Given the description of an element on the screen output the (x, y) to click on. 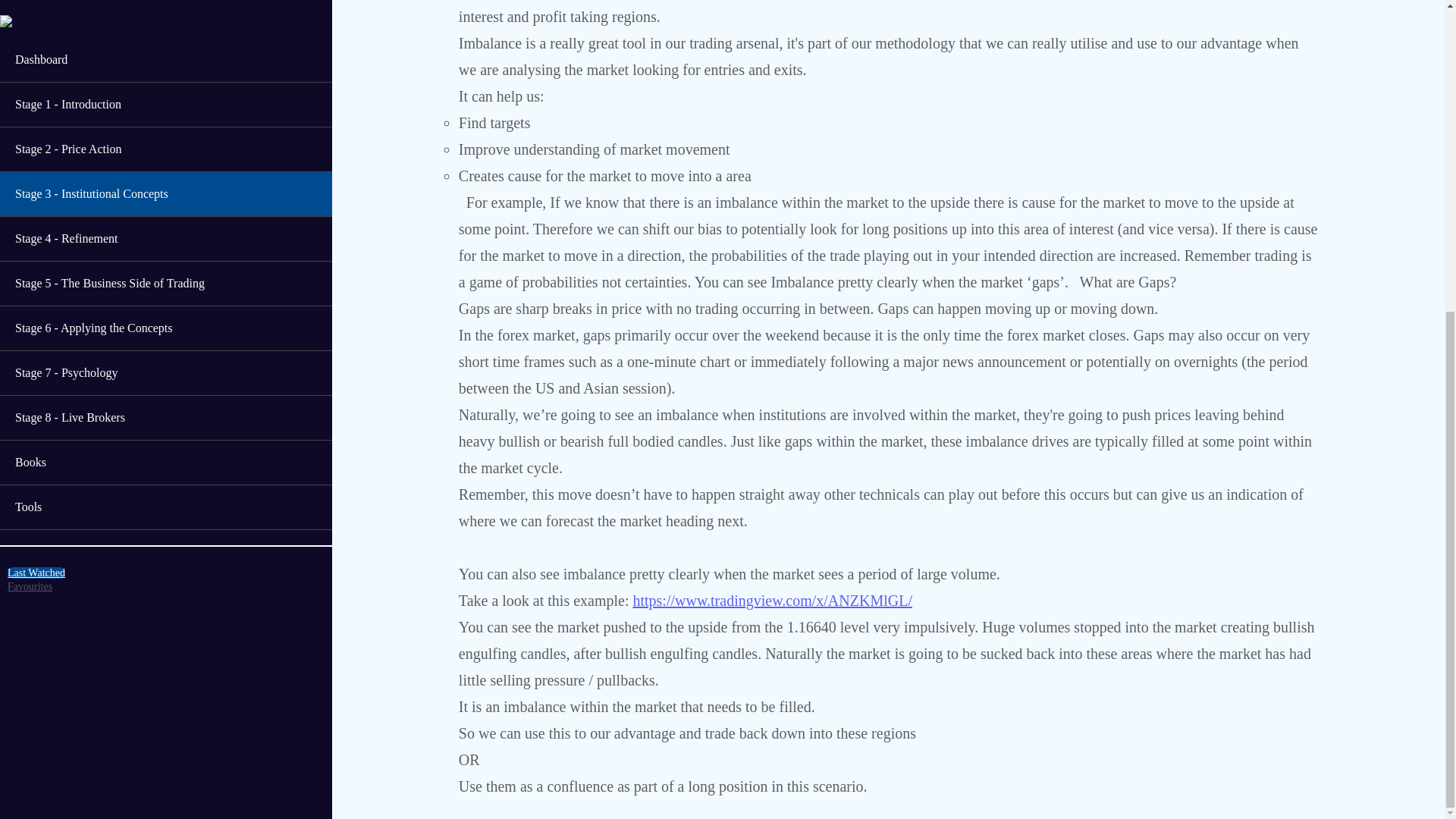
Favourites (29, 91)
Last Watched (36, 77)
Tools (165, 17)
